Given the description of an element on the screen output the (x, y) to click on. 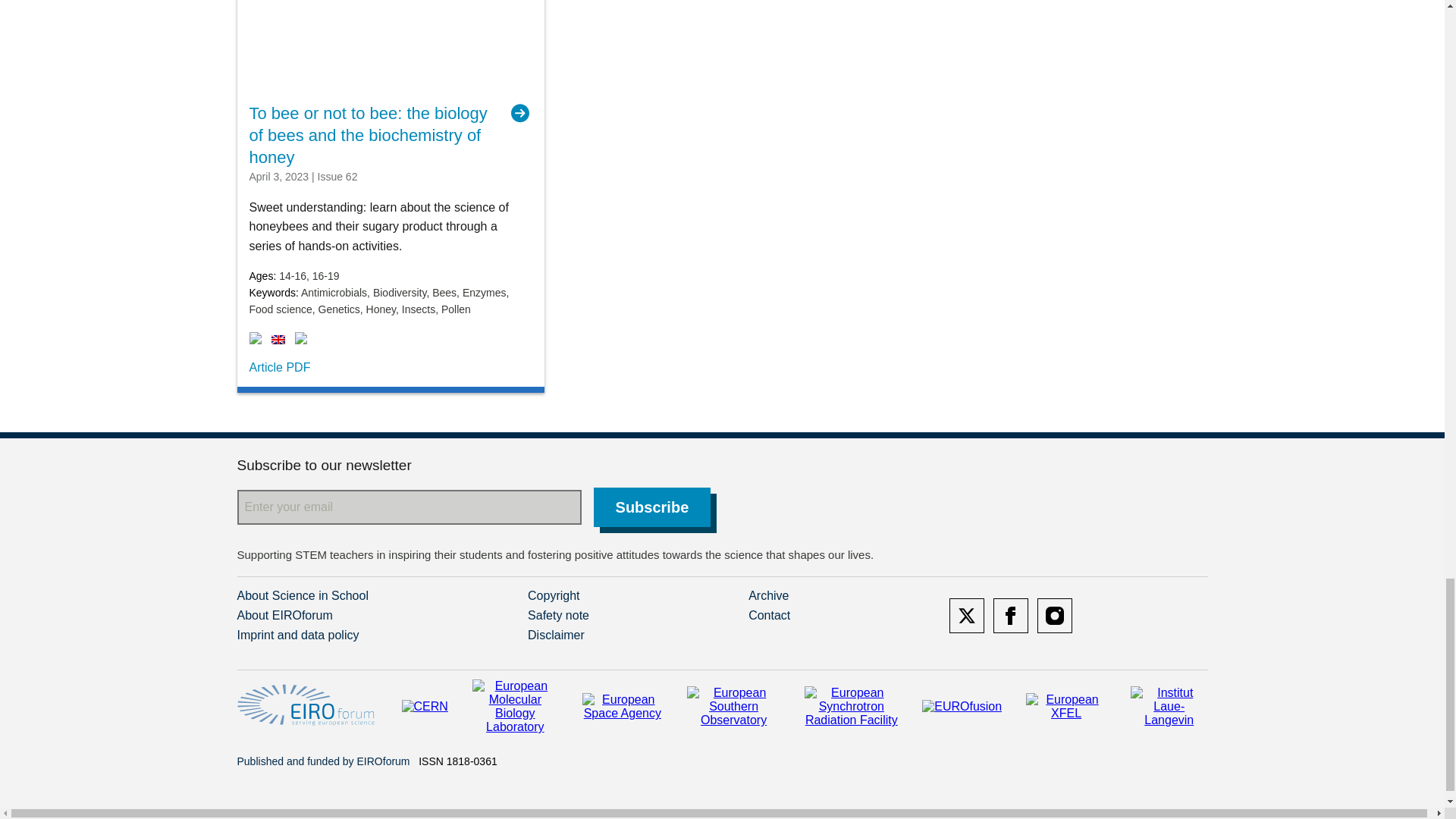
European XFEL (1066, 706)
European Southern Observatory (733, 706)
European Space Agency (622, 706)
EUROfusion (961, 706)
European Synchrotron Radiation Facility (851, 706)
Institut Laue-Langevin (1169, 706)
CERN (424, 706)
European Molecular Biology Laboratory (514, 706)
